Given the description of an element on the screen output the (x, y) to click on. 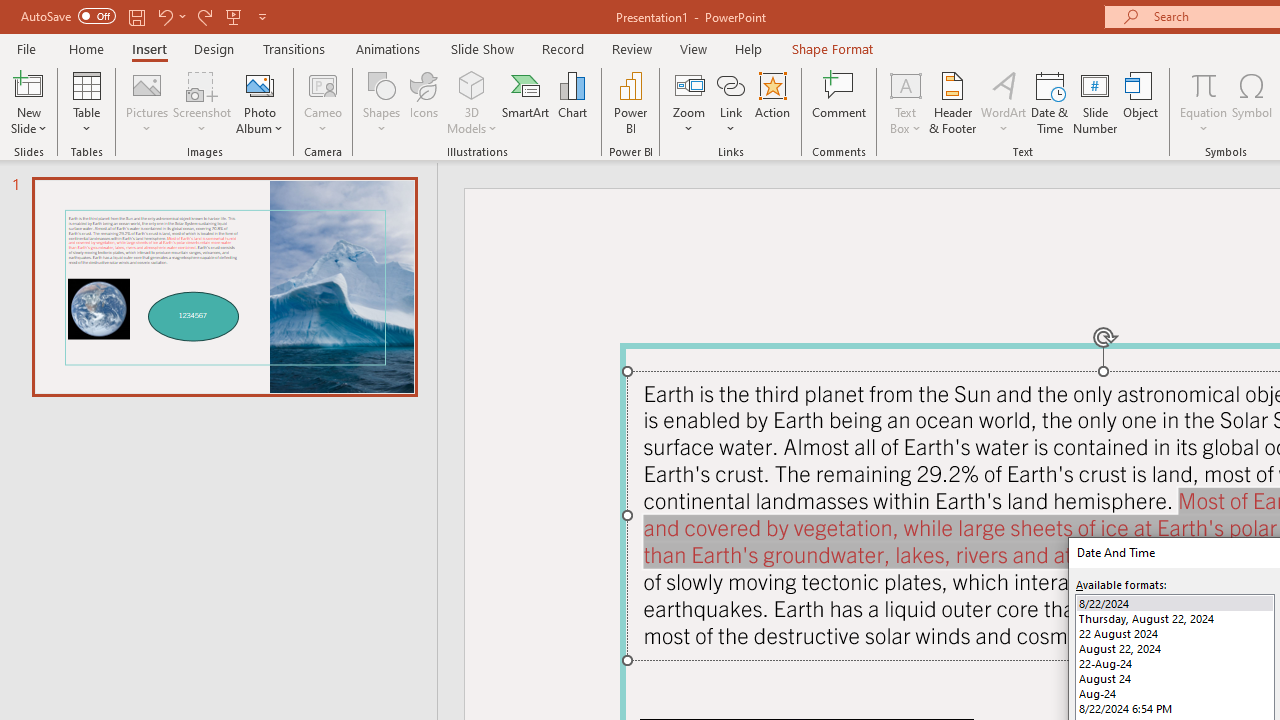
Photo Album... (259, 102)
Screenshot (202, 102)
SmartArt... (525, 102)
Icons (424, 102)
August 22, 2024 (1174, 647)
Symbol... (1252, 102)
New Photo Album... (259, 84)
Aug-24 (1174, 693)
Thursday, August 22, 2024 (1174, 618)
